Given the description of an element on the screen output the (x, y) to click on. 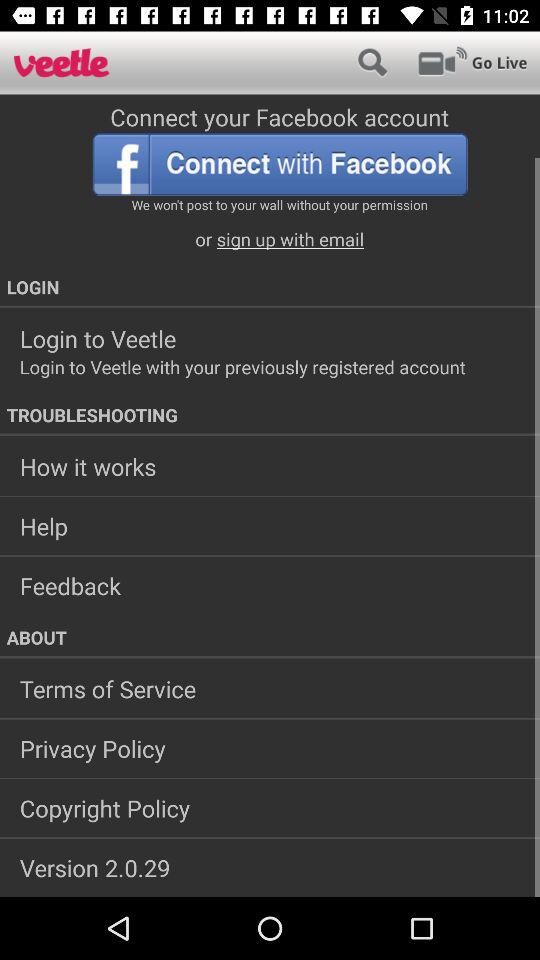
tap icon above the version 2 0 icon (270, 808)
